Given the description of an element on the screen output the (x, y) to click on. 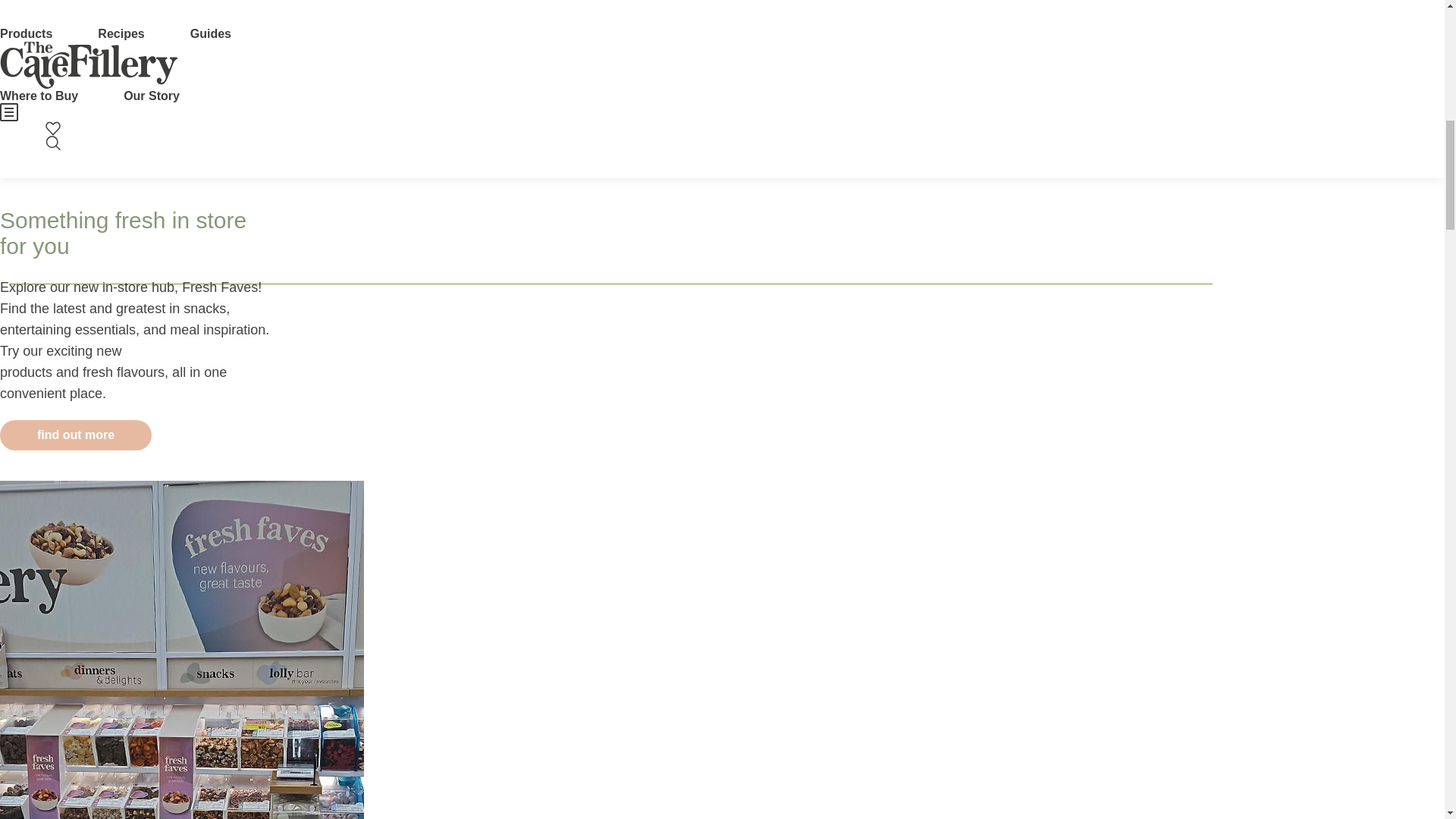
find out more (75, 435)
